Given the description of an element on the screen output the (x, y) to click on. 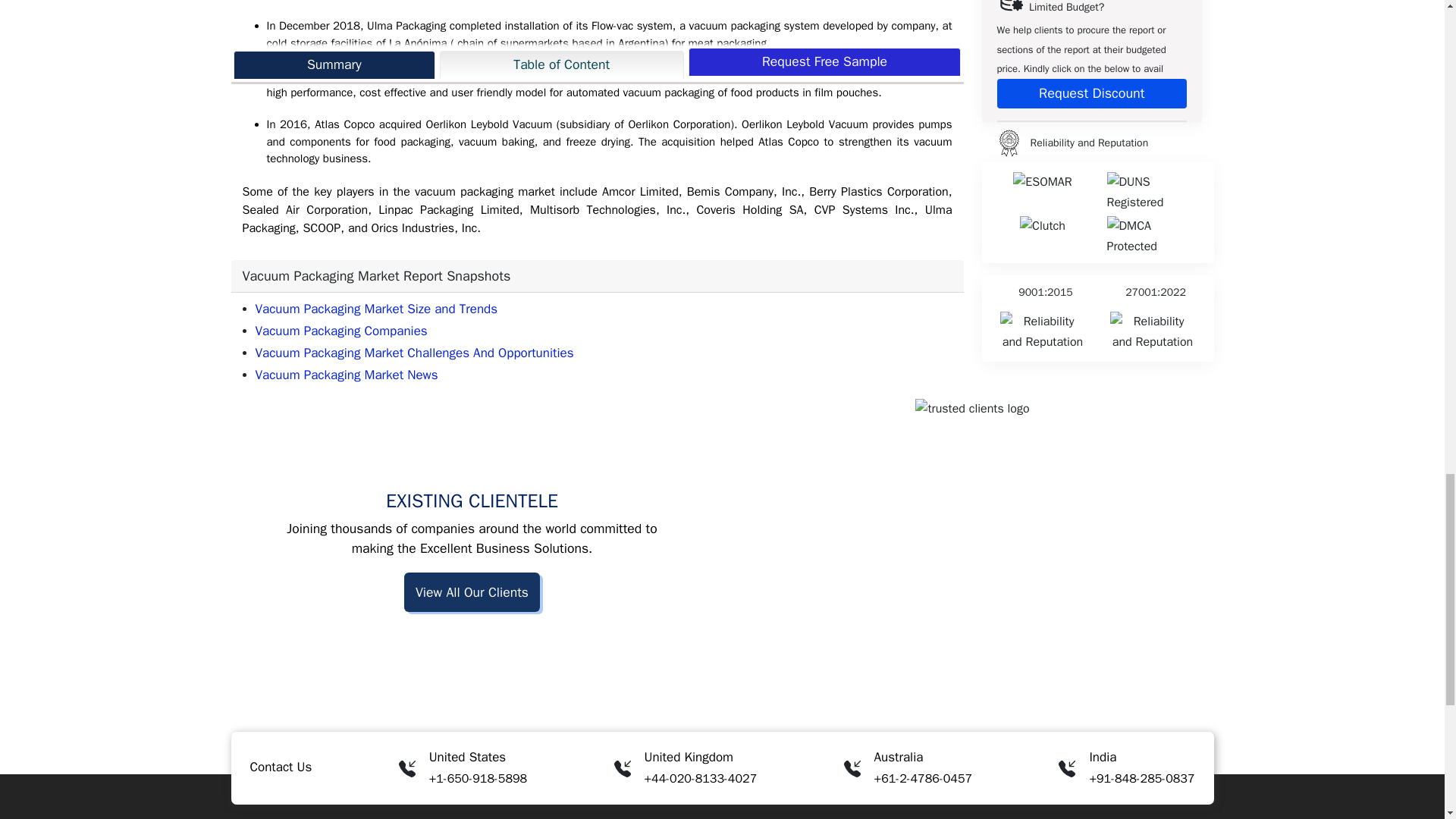
Vacuum Packaging Market Market News (346, 374)
Vacuum Packaging Market Companies (340, 330)
Vacuum Packaging Market Market Challenges And Opportunities (413, 352)
Vacuum Packaging Market Market Size and Trends (375, 308)
